Given the description of an element on the screen output the (x, y) to click on. 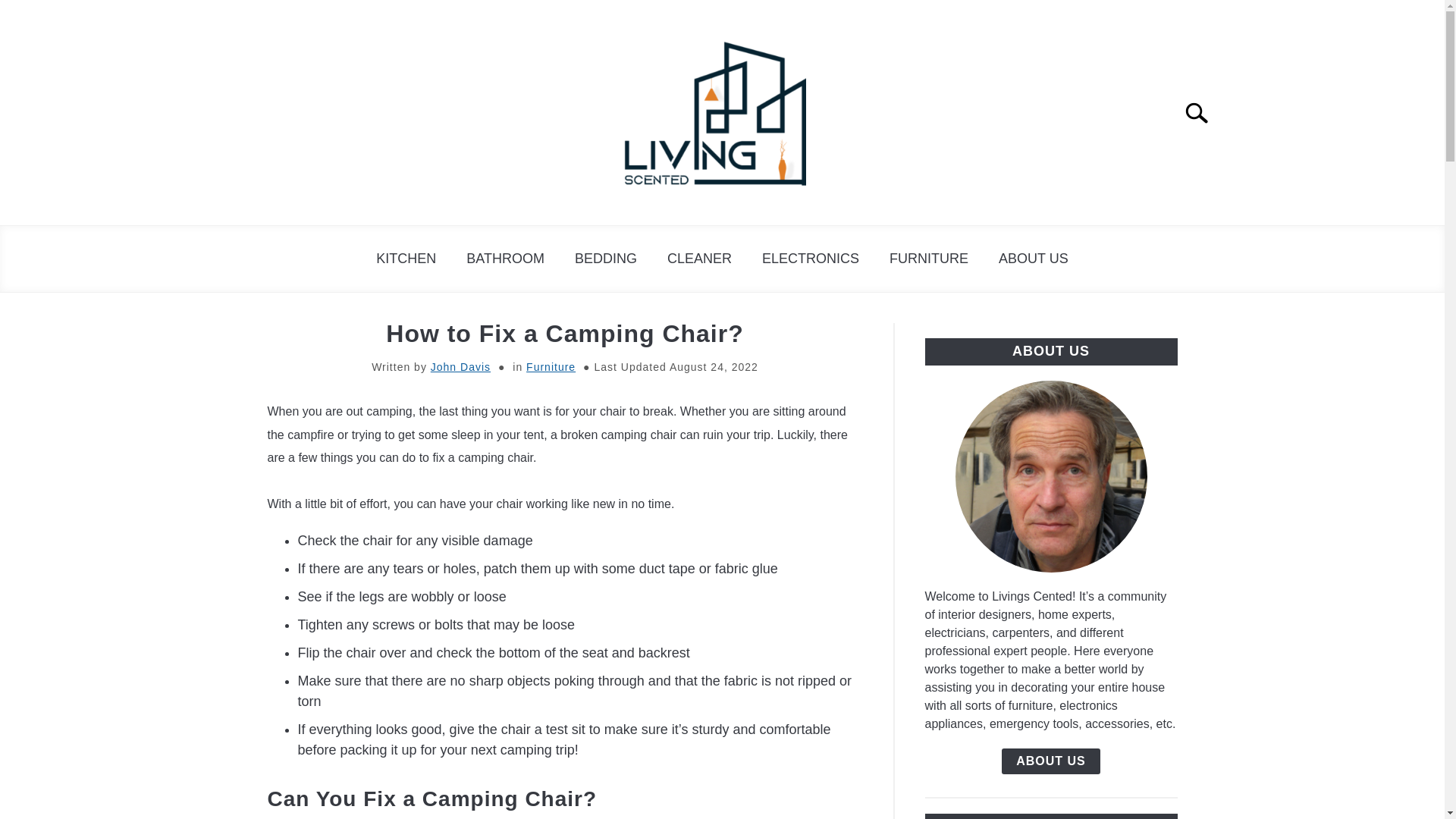
FURNITURE (929, 258)
CLEANER (699, 258)
ABOUT US (1033, 258)
ABOUT US (1050, 760)
John Davis (460, 367)
Search (1203, 112)
BEDDING (605, 258)
ELECTRONICS (810, 258)
BATHROOM (505, 258)
Furniture (550, 367)
